Given the description of an element on the screen output the (x, y) to click on. 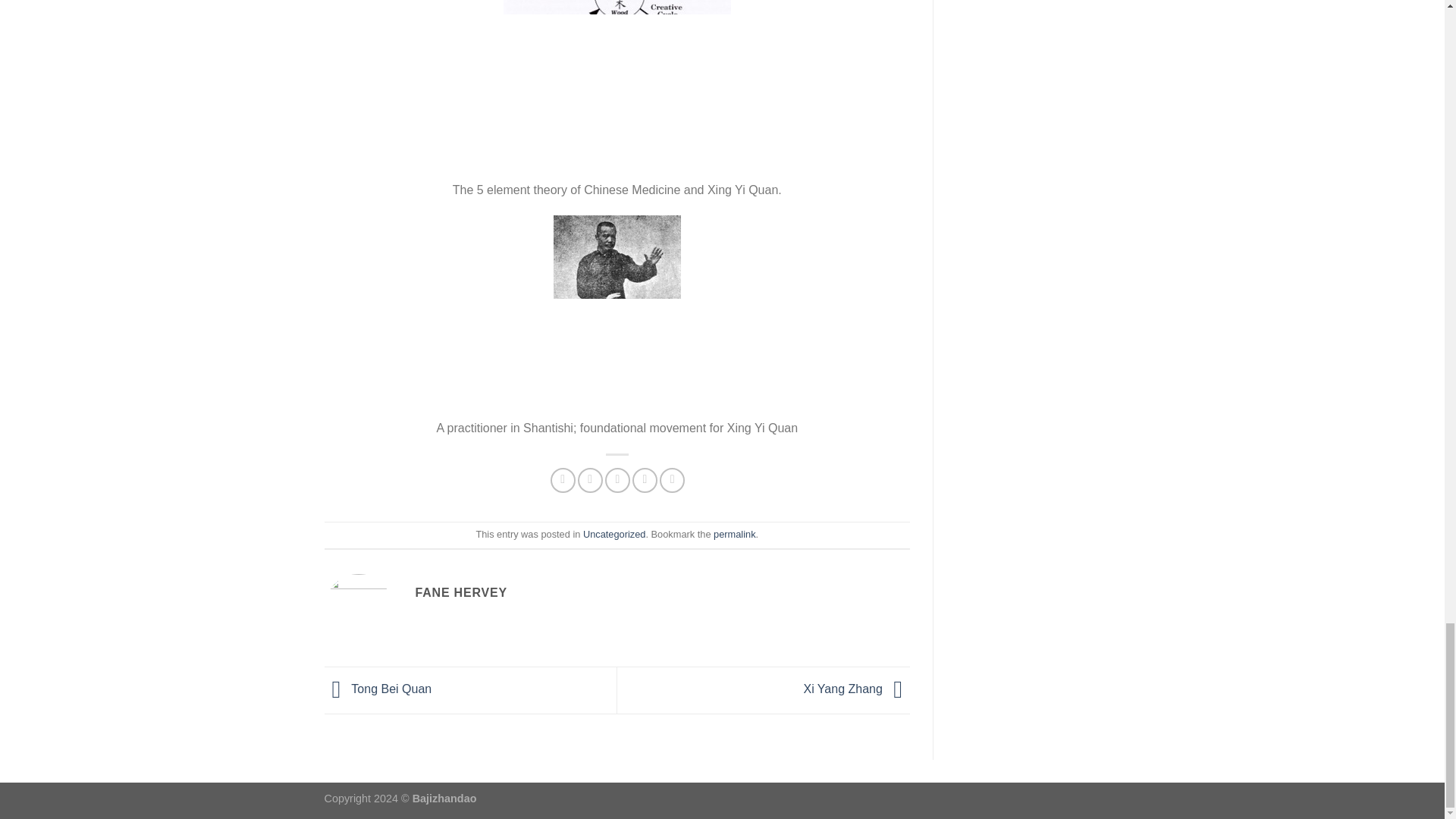
Share on Facebook (562, 480)
Share on LinkedIn (671, 480)
Pin on Pinterest (644, 480)
Share on Twitter (590, 480)
Permalink to Xing yi Quan (734, 533)
Uncategorized (614, 533)
Email to a Friend (617, 480)
Xi Yang Zhang (856, 689)
Tong Bei Quan (378, 689)
permalink (734, 533)
